Given the description of an element on the screen output the (x, y) to click on. 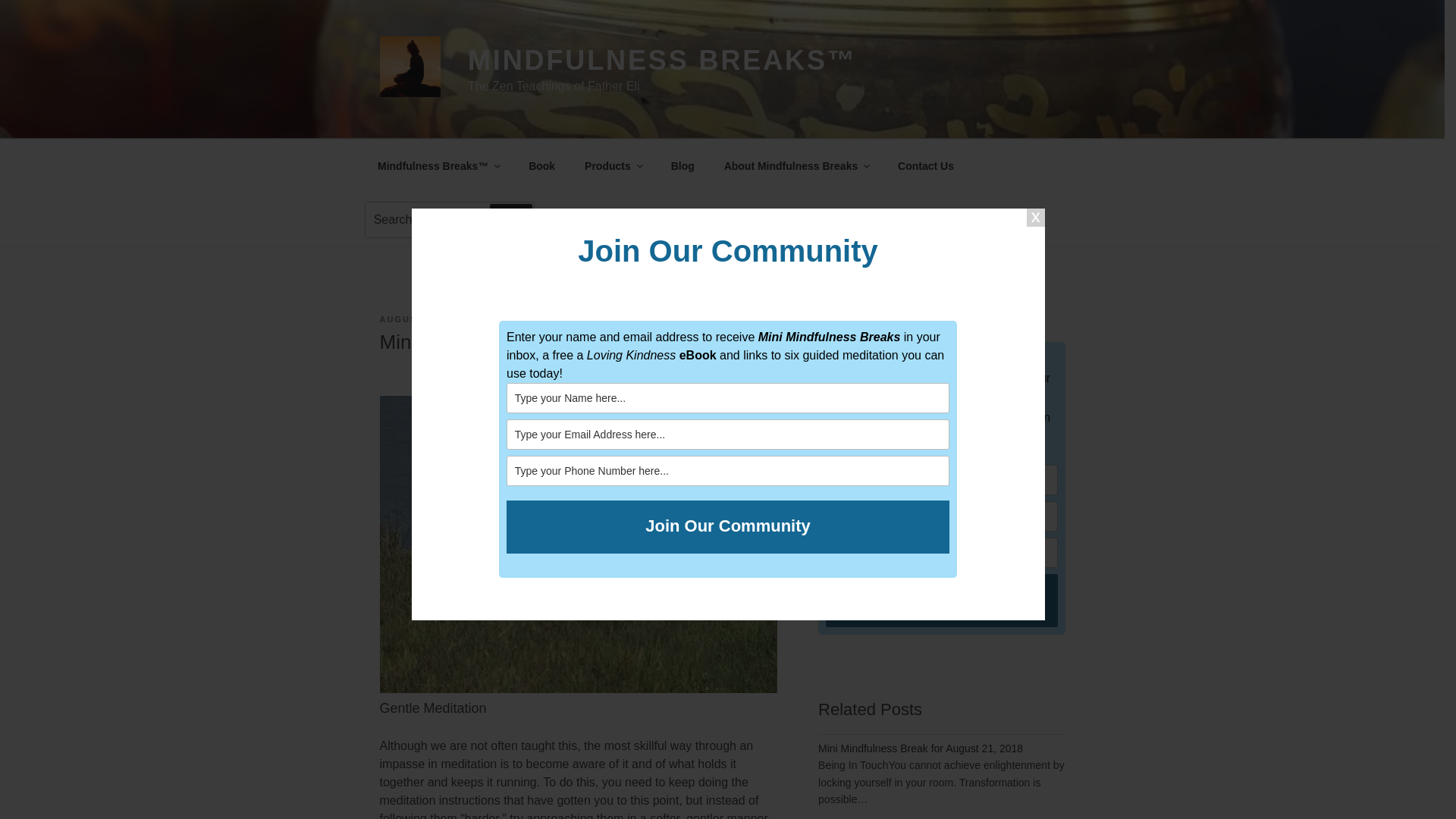
About Mindfulness Breaks (796, 165)
Contact Us (926, 165)
Products (613, 165)
Book (542, 165)
Join Our Community (941, 600)
Blog (682, 165)
Book (542, 165)
Blog (682, 165)
Products (613, 165)
About Mindfulness Breaks (796, 165)
JEROME (509, 318)
Join Our Community (727, 526)
Contact Us (926, 165)
Join Our Community (727, 526)
AUGUST 7, 2018 (421, 318)
